Given the description of an element on the screen output the (x, y) to click on. 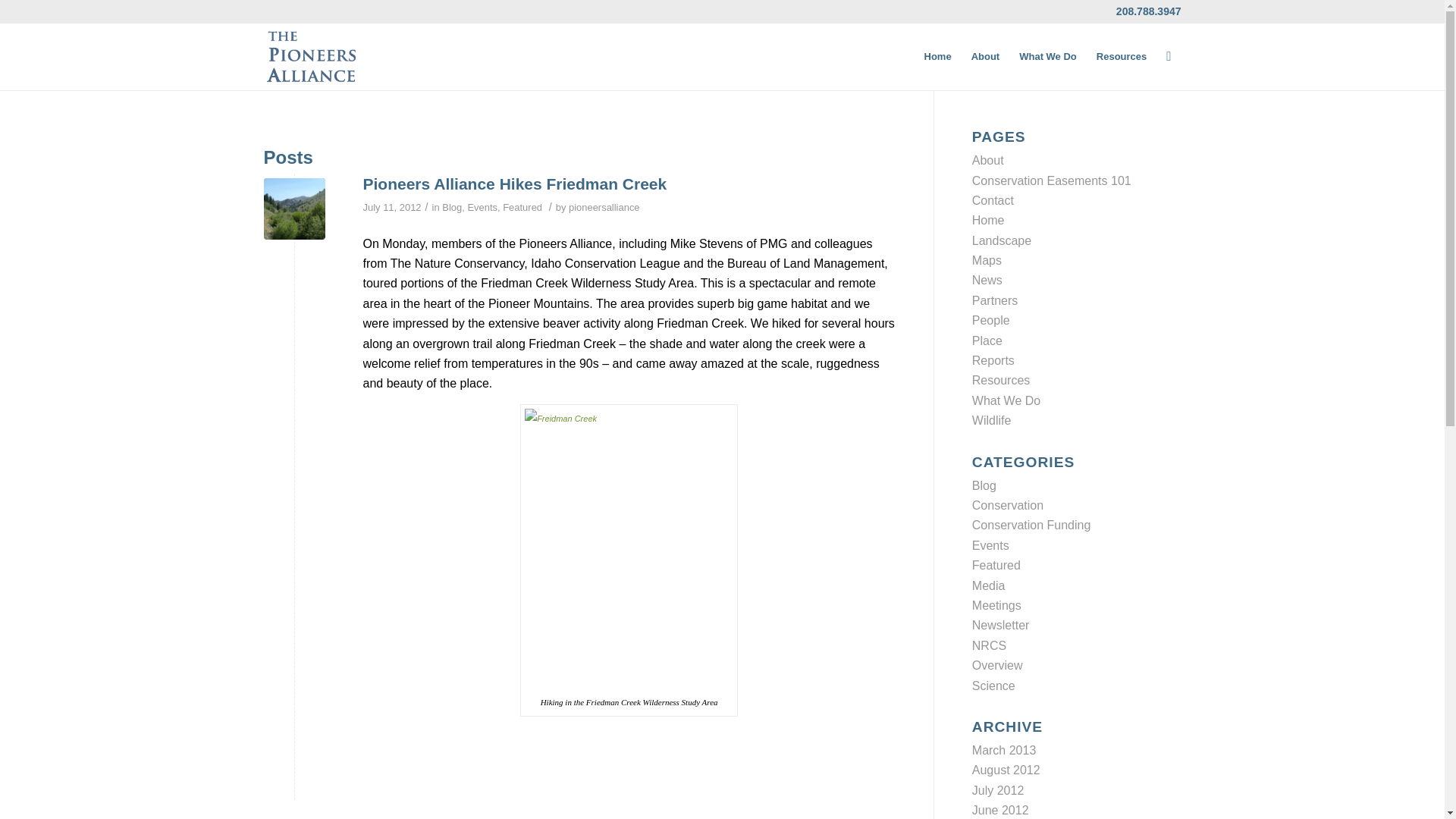
Pioneers Alliance Hikes Friedman Creek (514, 183)
Conservation Funding (1031, 524)
Resources (1000, 379)
Landscape (1001, 240)
Resources (1121, 56)
About (988, 160)
Place (987, 340)
Blog (983, 485)
Posts by pioneersalliance (604, 206)
Blog (451, 206)
